Given the description of an element on the screen output the (x, y) to click on. 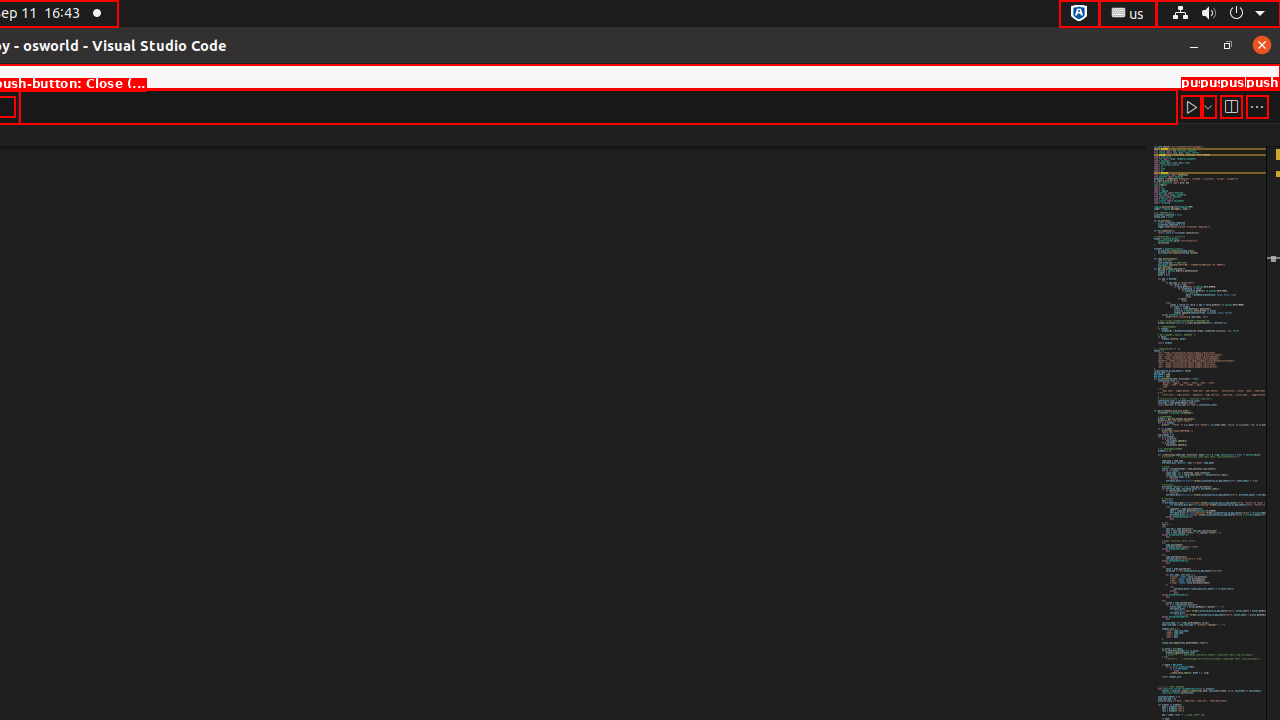
More Actions... Element type: push-button (1257, 106)
Run Python File Element type: push-button (1192, 106)
